Given the description of an element on the screen output the (x, y) to click on. 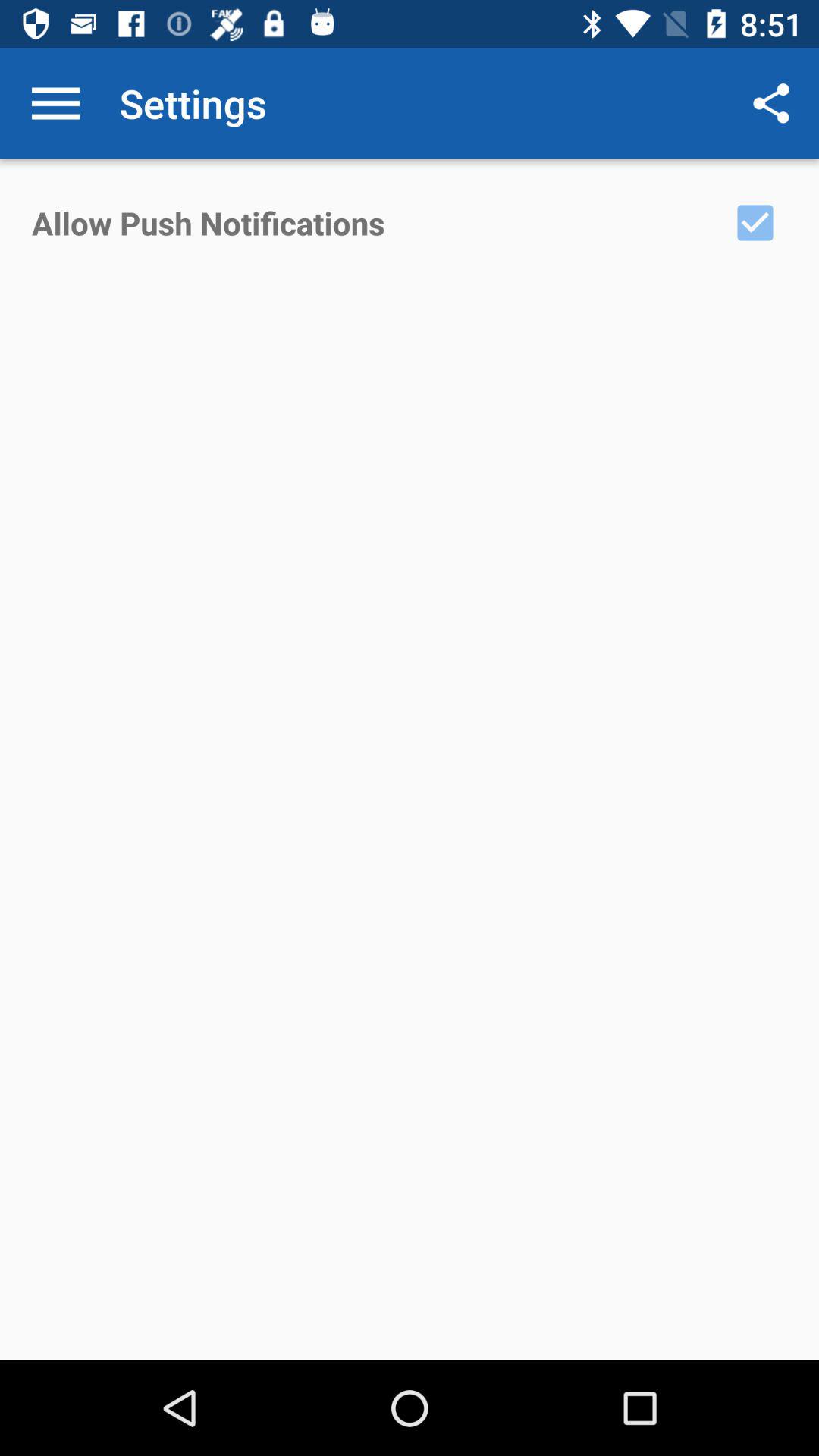
tap the item to the left of the settings app (55, 103)
